Given the description of an element on the screen output the (x, y) to click on. 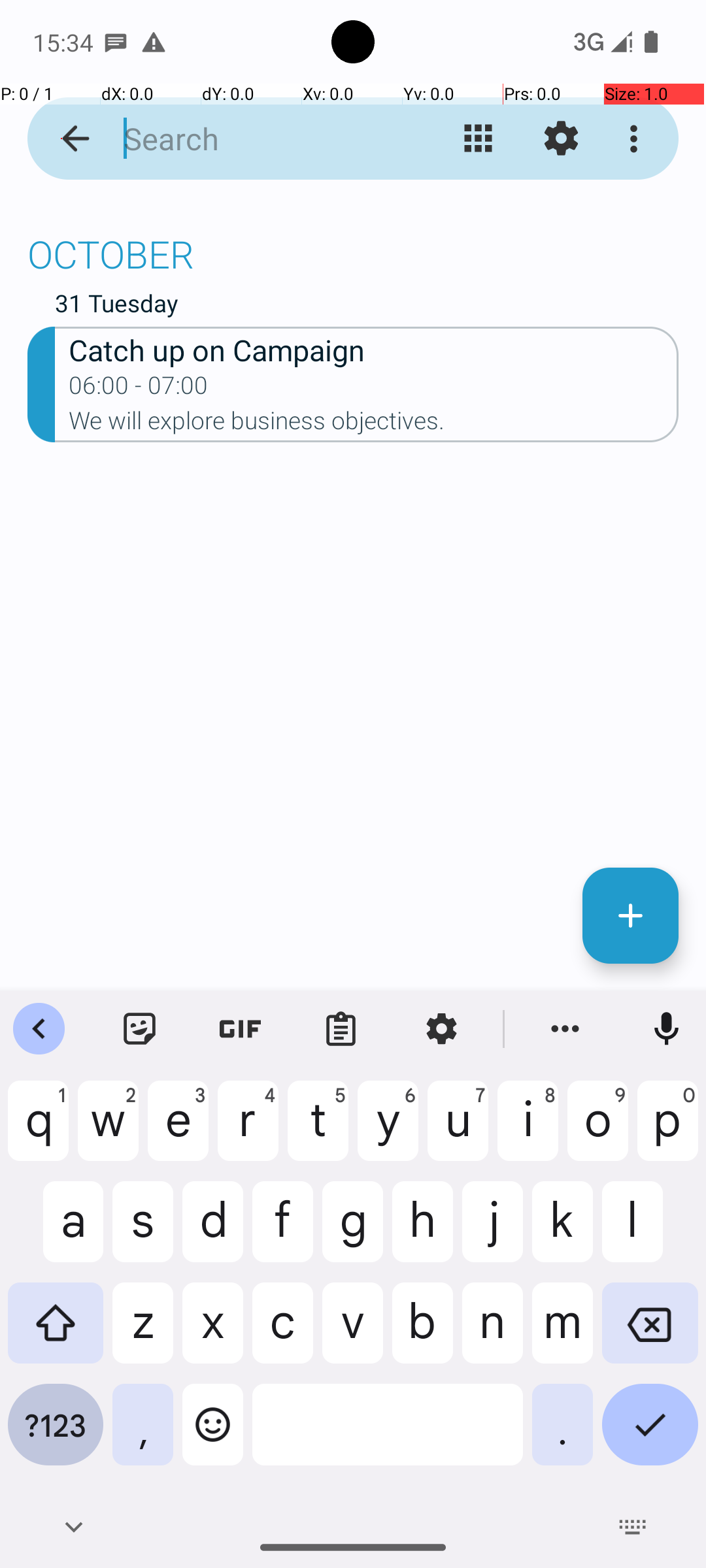
OCTOBER Element type: android.widget.TextView (353, 246)
31 Tuesday Element type: android.widget.TextView (366, 306)
Catch up on Campaign Element type: android.widget.TextView (373, 348)
06:00 - 07:00 Element type: android.widget.TextView (137, 389)
We will explore business objectives. Element type: android.widget.TextView (373, 424)
